Given the description of an element on the screen output the (x, y) to click on. 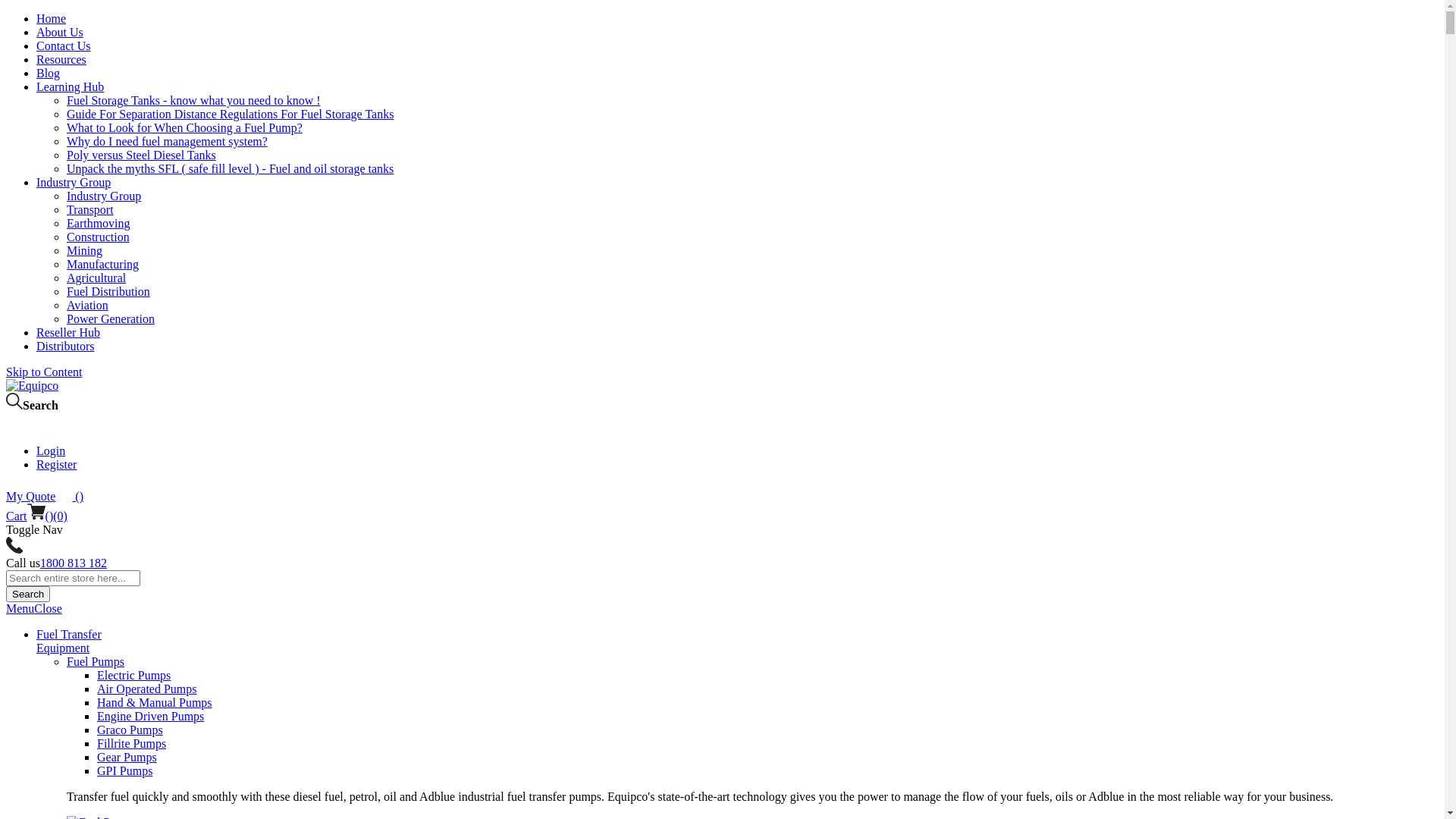
Industry Group Element type: text (103, 195)
Blog Element type: text (47, 72)
Equipco Element type: hover (32, 385)
Register Element type: text (56, 464)
Aviation Element type: text (87, 304)
Fuel Distribution Element type: text (108, 291)
Transport Element type: text (89, 209)
What to Look for When Choosing a Fuel Pump? Element type: text (184, 127)
GPI Pumps Element type: text (124, 770)
Engine Driven Pumps Element type: text (150, 715)
Fuel Pumps Element type: text (95, 661)
Fuel Storage Tanks - know what you need to know ! Element type: text (193, 100)
Industry Group Element type: text (73, 181)
Skip to Content Element type: text (43, 371)
Mining Element type: text (84, 250)
My Quote () Element type: text (44, 495)
Login Element type: hover (13, 424)
About Us Element type: text (59, 31)
Cart()(0) Element type: text (36, 515)
Home Element type: text (50, 18)
Fillrite Pumps Element type: text (131, 743)
Equipco Element type: hover (32, 385)
Air Operated Pumps Element type: text (147, 688)
Contact Us Element type: text (63, 45)
Construction Element type: text (97, 236)
Electric Pumps Element type: text (133, 674)
Manufacturing Element type: text (102, 263)
Close Element type: text (47, 608)
Hand & Manual Pumps Element type: text (154, 702)
Menu Element type: text (20, 608)
Resources Element type: text (61, 59)
Reseller Hub Element type: text (68, 332)
Earthmoving Element type: text (98, 222)
Distributors Element type: text (65, 345)
1800 813 182 Element type: hover (14, 548)
Power Generation Element type: text (110, 318)
Fuel Transfer
Equipment Element type: text (68, 640)
Graco Pumps Element type: text (130, 729)
Learning Hub Element type: text (69, 86)
Poly versus Steel Diesel Tanks Element type: text (141, 154)
Why do I need fuel management system? Element type: text (166, 140)
Search Element type: text (28, 594)
Gear Pumps Element type: text (126, 756)
1800 813 182 Element type: text (73, 562)
Login Element type: text (50, 450)
Agricultural Element type: text (95, 277)
